Given the description of an element on the screen output the (x, y) to click on. 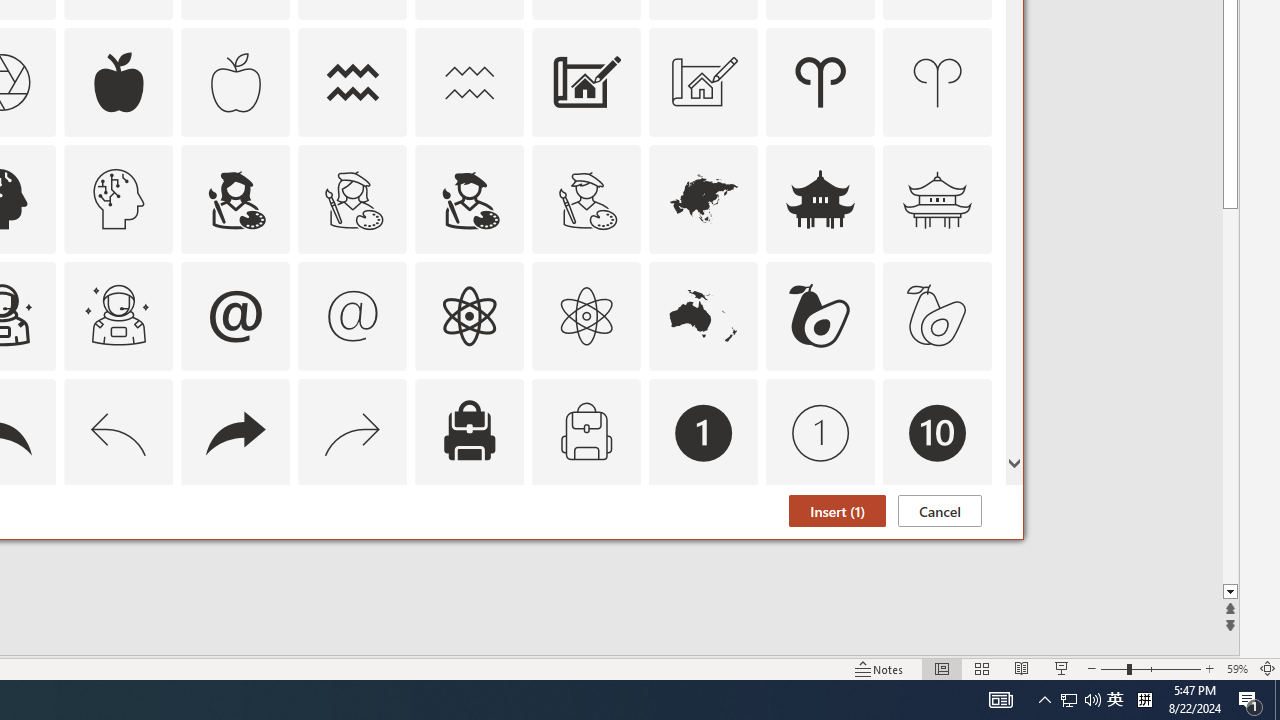
AutomationID: Icons_Aquarius_M (469, 82)
AutomationID: Icons (937, 550)
AutomationID: Icons_Architecture (586, 82)
AutomationID: Icons_Avocado_M (938, 316)
AutomationID: Icons_Asia (703, 198)
AutomationID: Icons_At_M (353, 316)
AutomationID: Icons_Badge8 (586, 550)
